Given the description of an element on the screen output the (x, y) to click on. 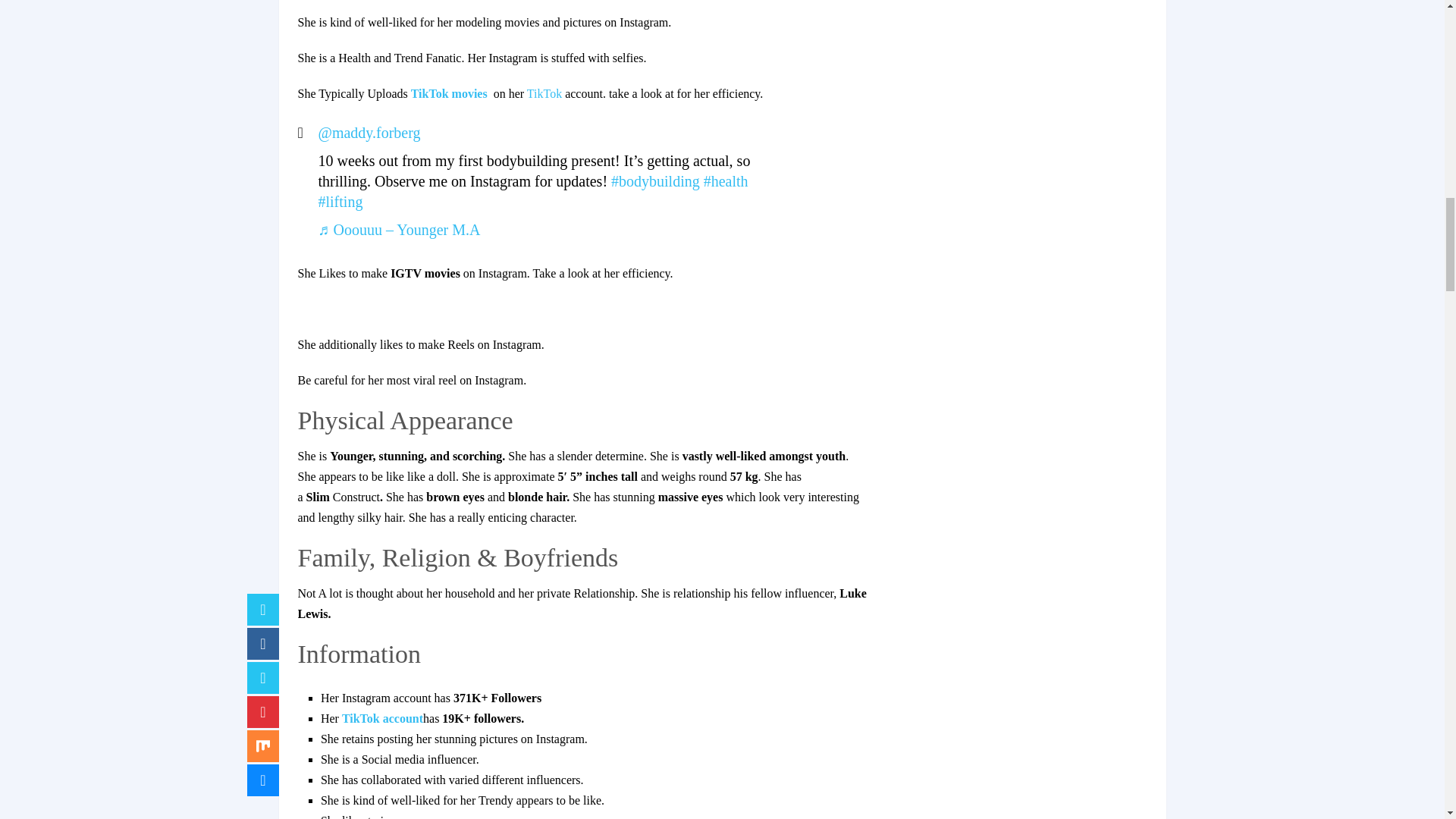
Laura Gaspar Wiki (544, 92)
TikTok (544, 92)
Fitness (725, 180)
TikTok movies (451, 92)
lifting (340, 201)
TikTok account (382, 717)
bodybuilding (655, 180)
